Given the description of an element on the screen output the (x, y) to click on. 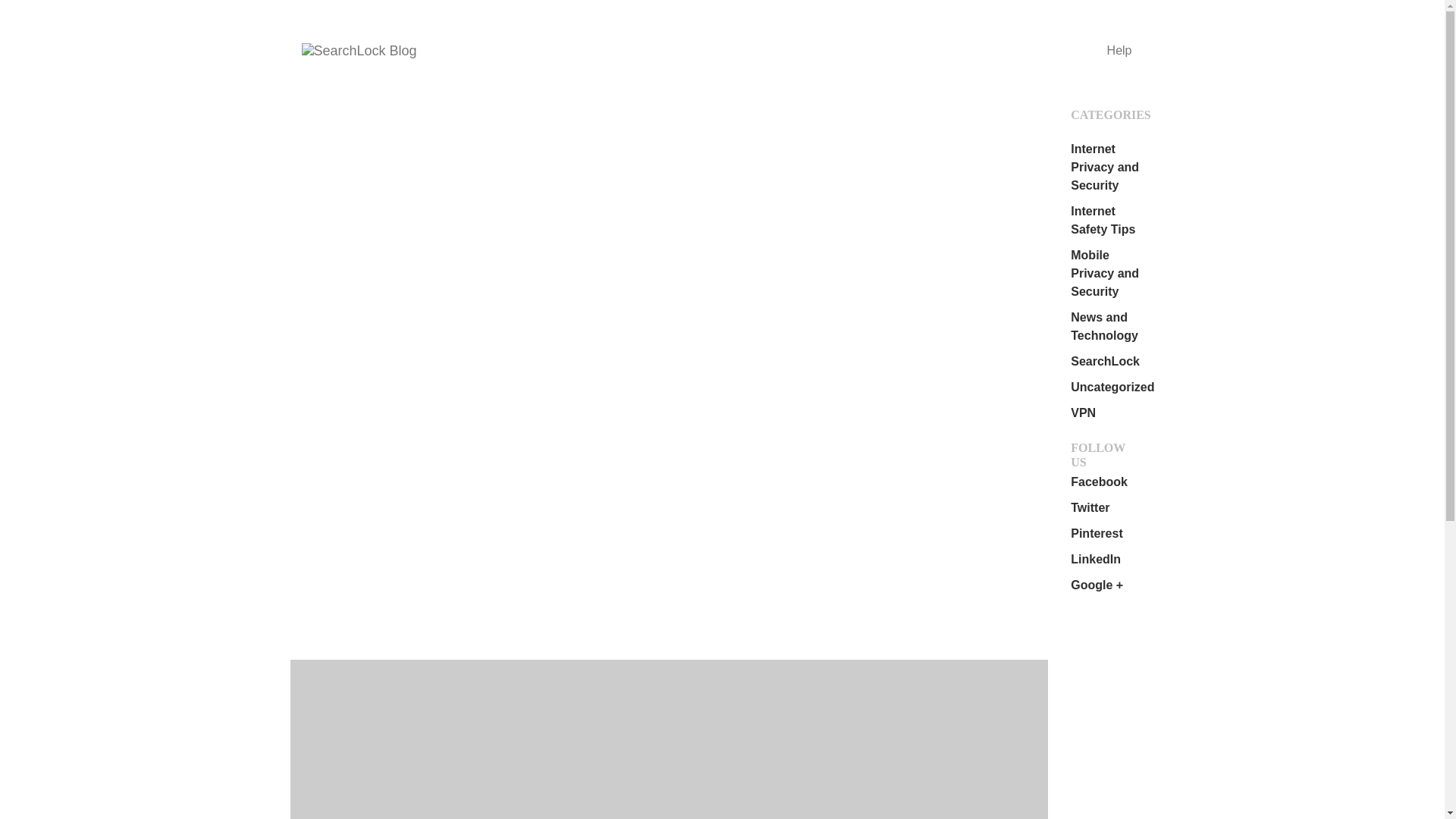
Mobile Privacy and Security (1104, 273)
Twitter (1089, 507)
Uncategorized (1112, 386)
Internet Privacy and Security (1104, 166)
Facebook (1098, 481)
SearchLock (1105, 360)
News and Technology (1104, 326)
VPN (1083, 412)
Pinterest (1096, 533)
Help (1119, 50)
